Given the description of an element on the screen output the (x, y) to click on. 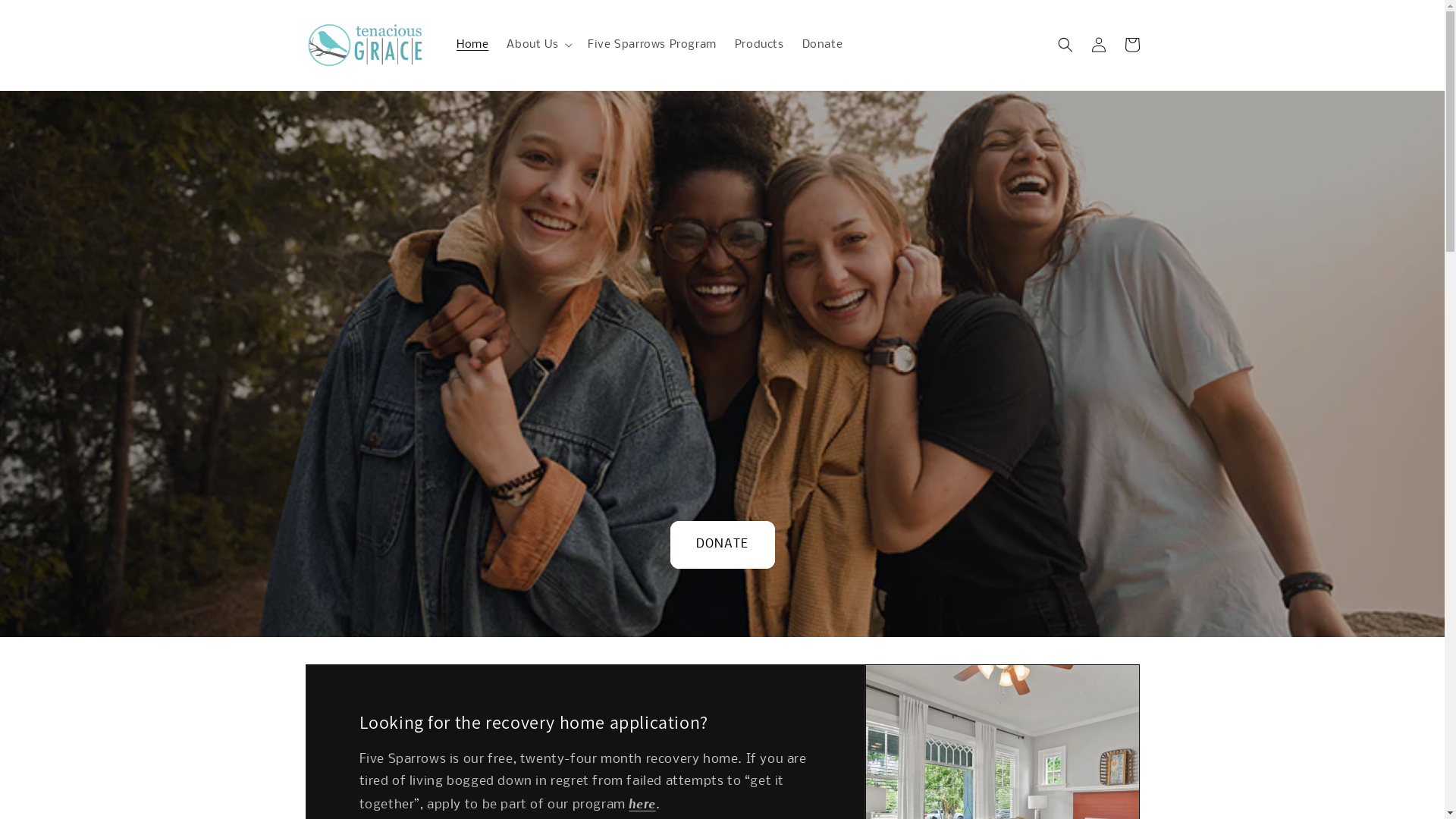
Five Sparrows Program Element type: text (651, 44)
Cart Element type: text (1131, 44)
Donate Element type: text (822, 44)
Home Element type: text (472, 44)
Products Element type: text (759, 44)
here Element type: text (641, 804)
Log in Element type: text (1097, 44)
DONATE Element type: text (722, 544)
